Given the description of an element on the screen output the (x, y) to click on. 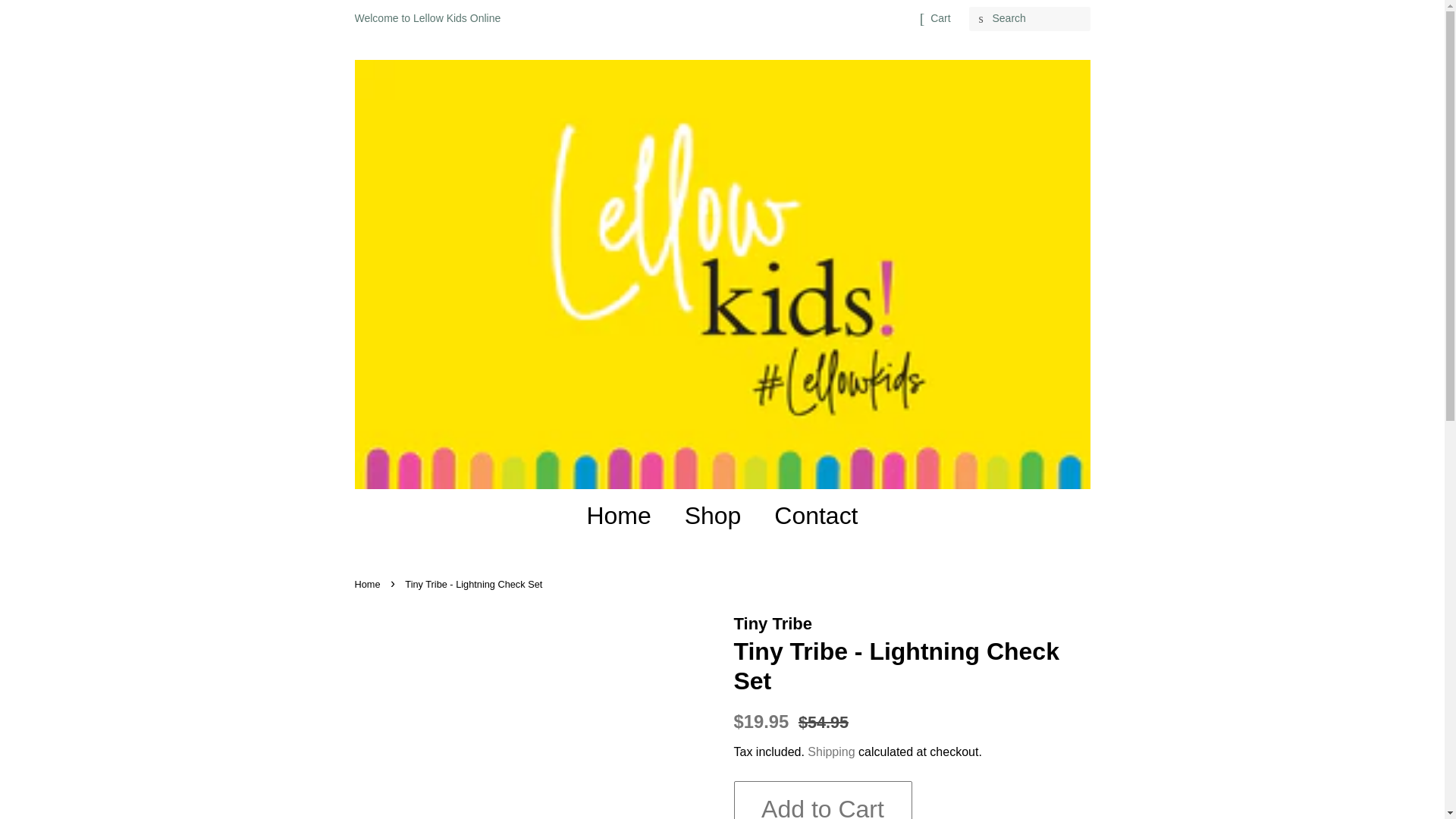
Search (980, 18)
Home (369, 583)
Cart (940, 18)
Home (625, 515)
Add to Cart (822, 800)
Shop (714, 515)
Contact (809, 515)
Shipping (831, 751)
Back to the frontpage (369, 583)
